Given the description of an element on the screen output the (x, y) to click on. 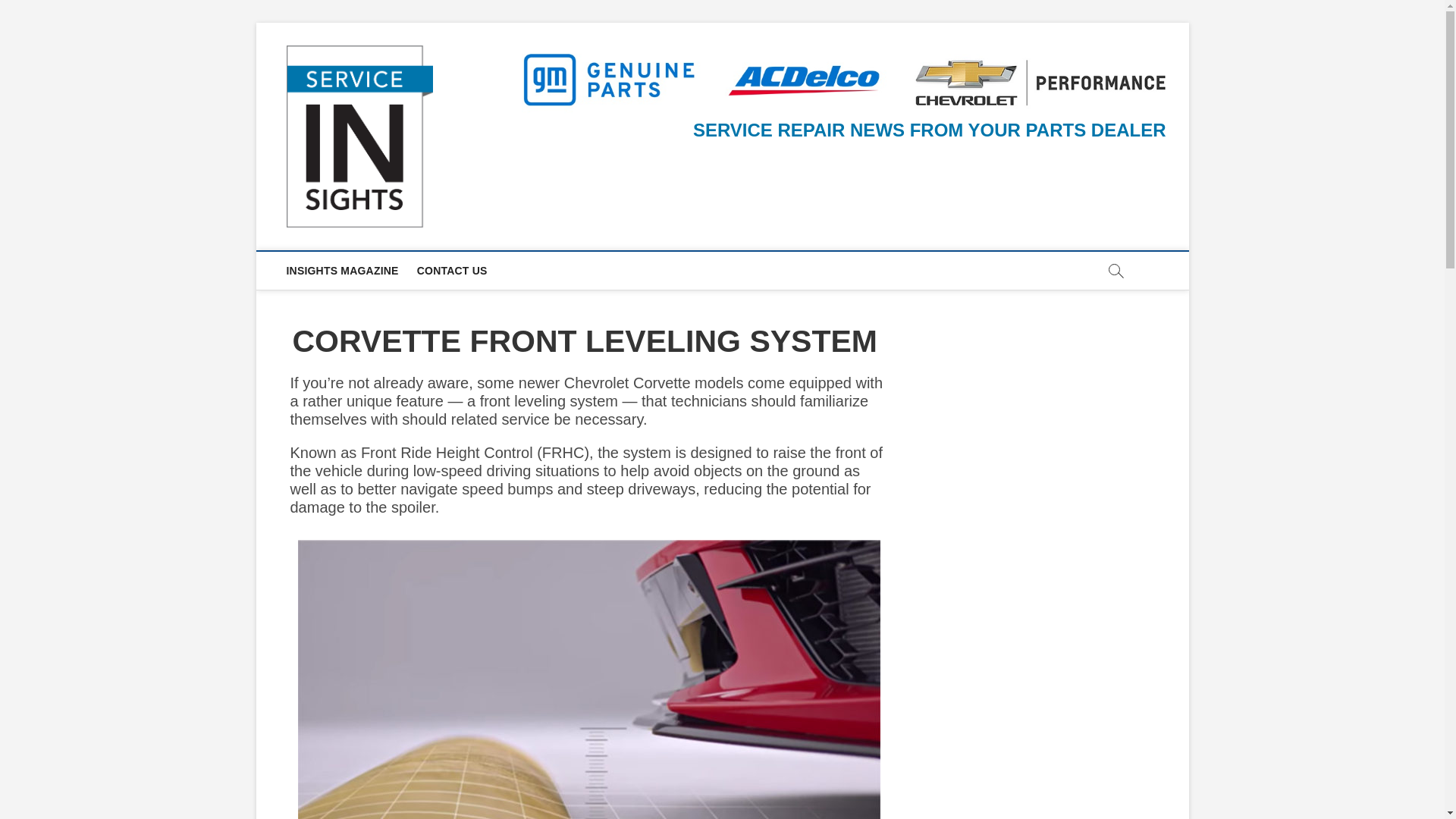
GM Service Insights (554, 73)
CONTACT US (452, 270)
GM Service Insights (554, 73)
INSIGHTS MAGAZINE (342, 270)
